Given the description of an element on the screen output the (x, y) to click on. 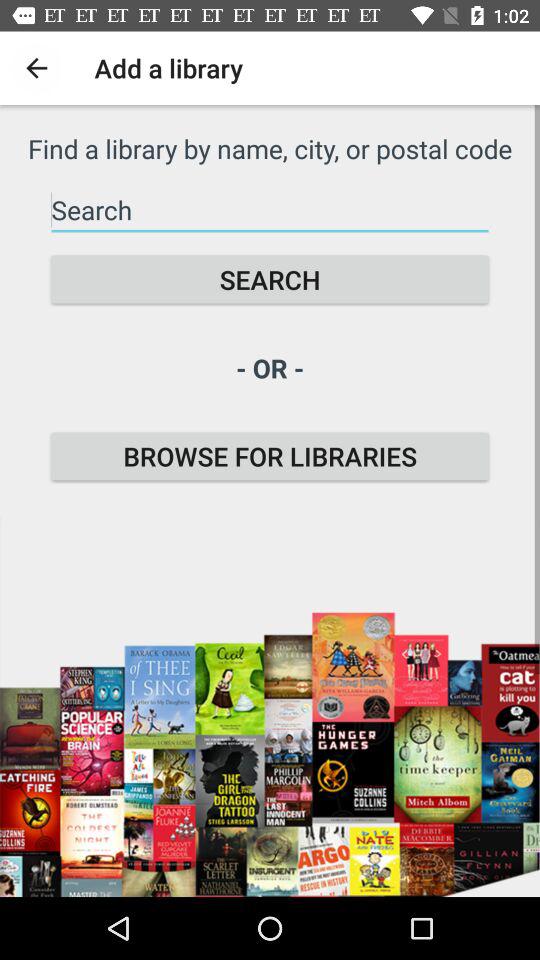
click search option (269, 210)
